Given the description of an element on the screen output the (x, y) to click on. 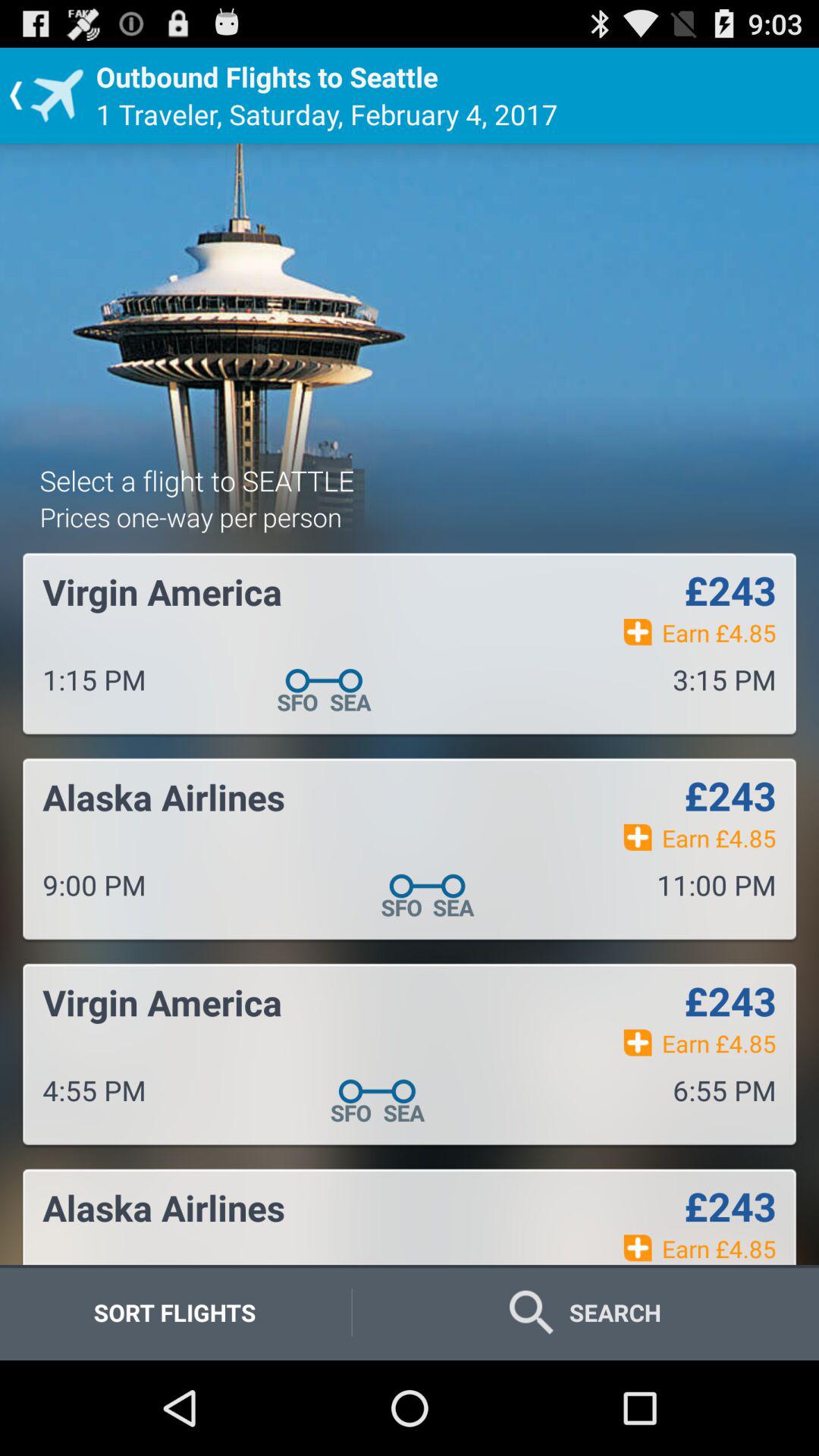
launch app below alaska airlines app (174, 1312)
